Given the description of an element on the screen output the (x, y) to click on. 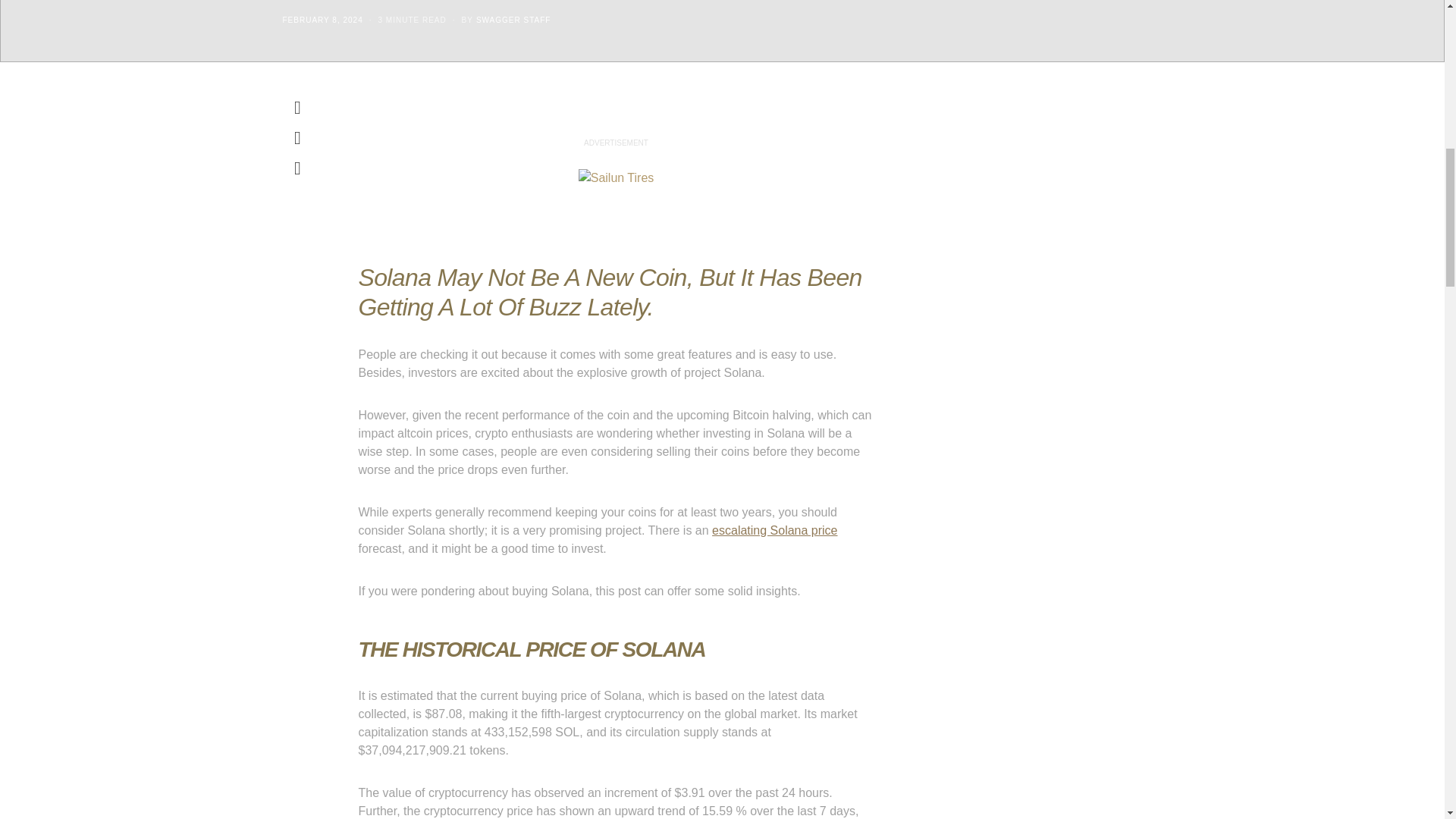
View all posts by SWAGGER Staff (513, 19)
